Given the description of an element on the screen output the (x, y) to click on. 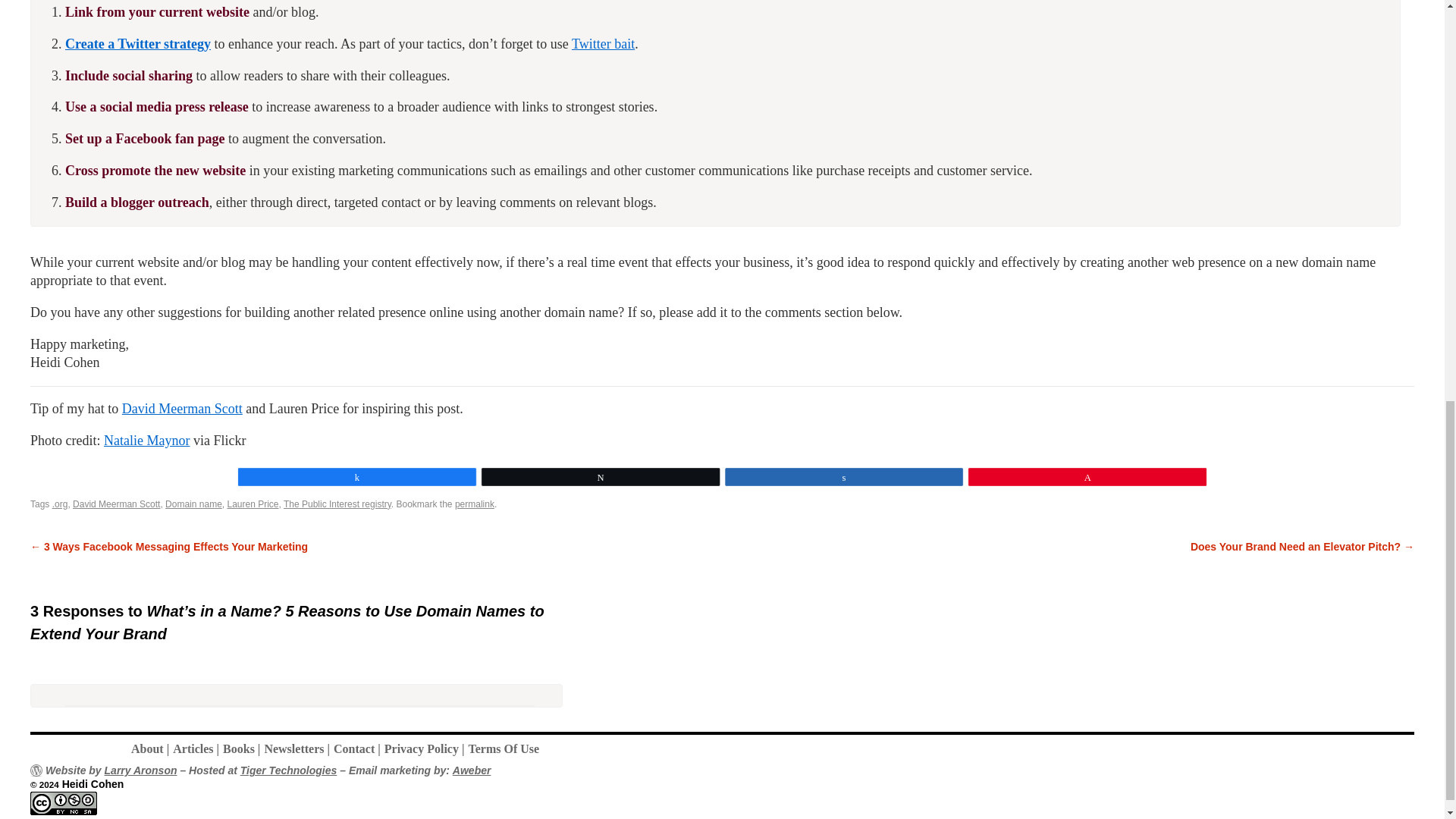
Terms Of Use (505, 748)
Larry Aronson (140, 770)
About (152, 748)
permalink (474, 503)
Lauren Price (252, 503)
Create a Twitter strategy (138, 43)
David Meerman Scott (116, 503)
The Public Interest registry (337, 503)
David Meerman Scott (182, 408)
Tiger Technologies (288, 770)
